Given the description of an element on the screen output the (x, y) to click on. 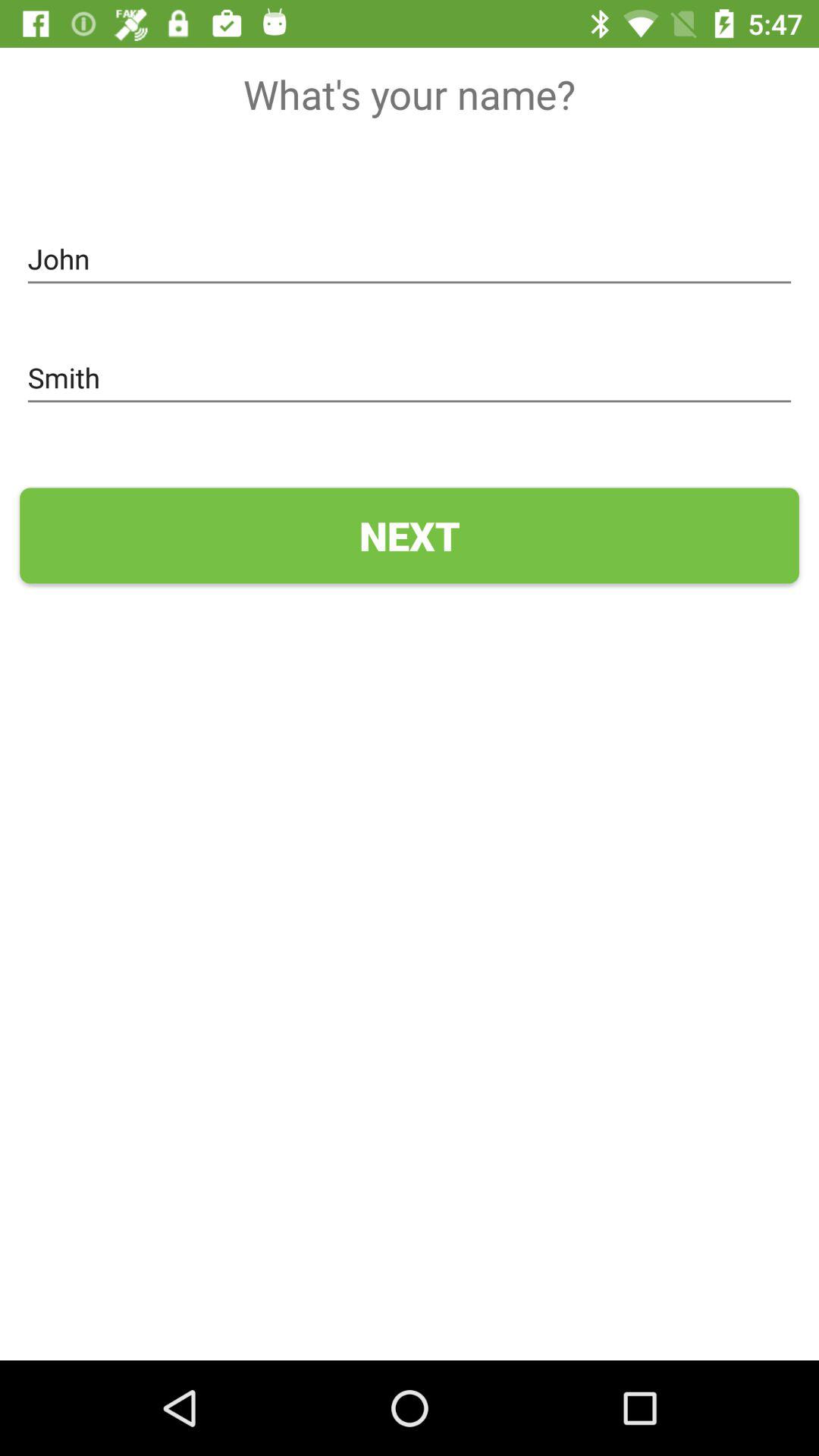
launch item above smith item (409, 259)
